Given the description of an element on the screen output the (x, y) to click on. 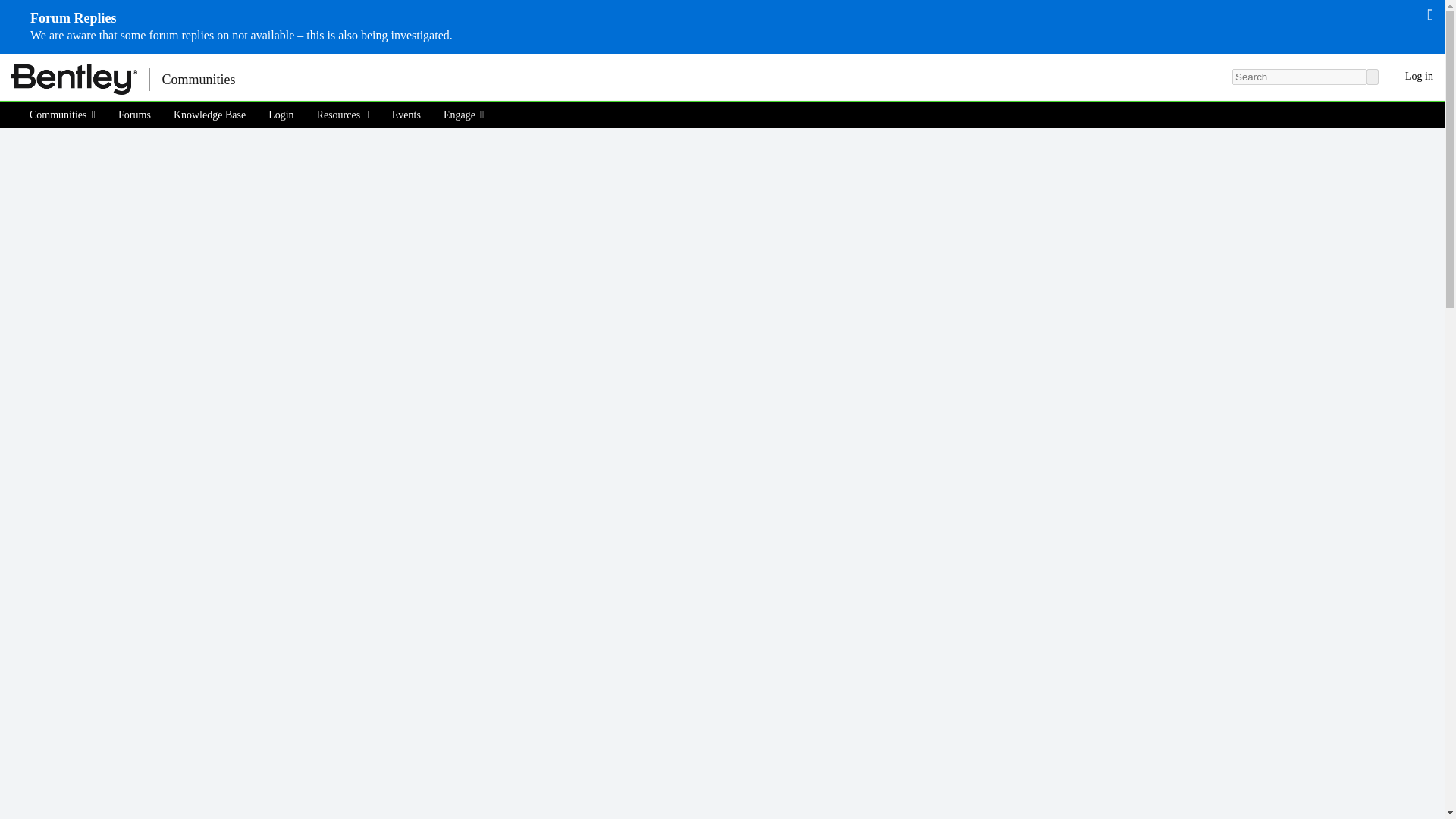
Skip to main content (8, 63)
Knowledge Base (209, 114)
Dismiss announcement Forum Replies (1430, 14)
Communities (67, 114)
Resources (342, 114)
Engage (464, 114)
Login (280, 114)
Communities (197, 79)
Forums (133, 114)
Events (406, 114)
